Given the description of an element on the screen output the (x, y) to click on. 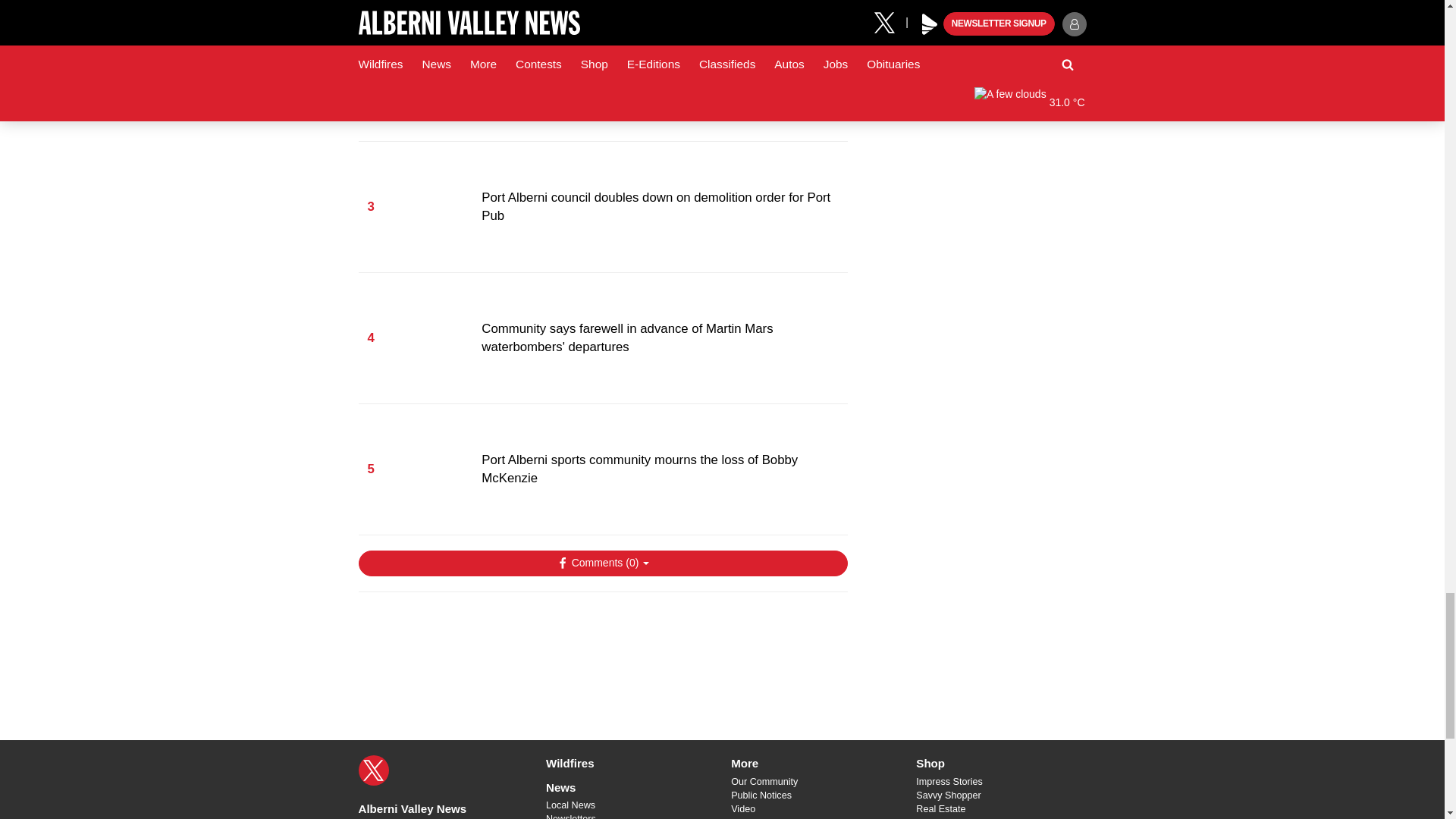
Show Comments (602, 563)
X (373, 770)
